Given the description of an element on the screen output the (x, y) to click on. 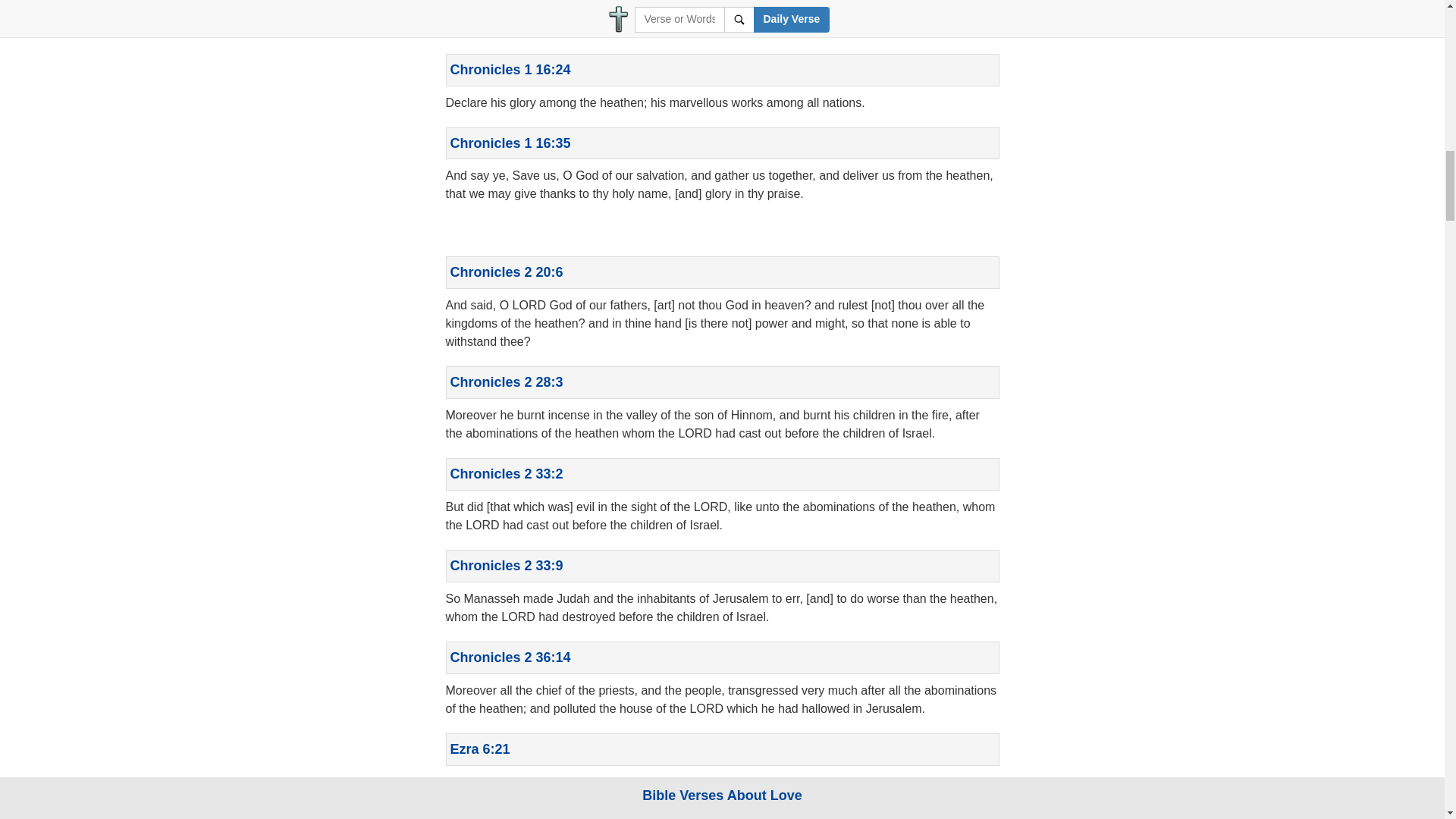
Chronicles 1 16:35 (509, 142)
Chronicles 2 33:9 (506, 565)
Chronicles 2 36:14 (509, 657)
Chronicles 2 20:6 (506, 272)
Ezra 6:21 (480, 749)
Chronicles 2 28:3 (506, 381)
Chronicles 1 16:24 (509, 69)
Chronicles 2 33:2 (506, 473)
